Given the description of an element on the screen output the (x, y) to click on. 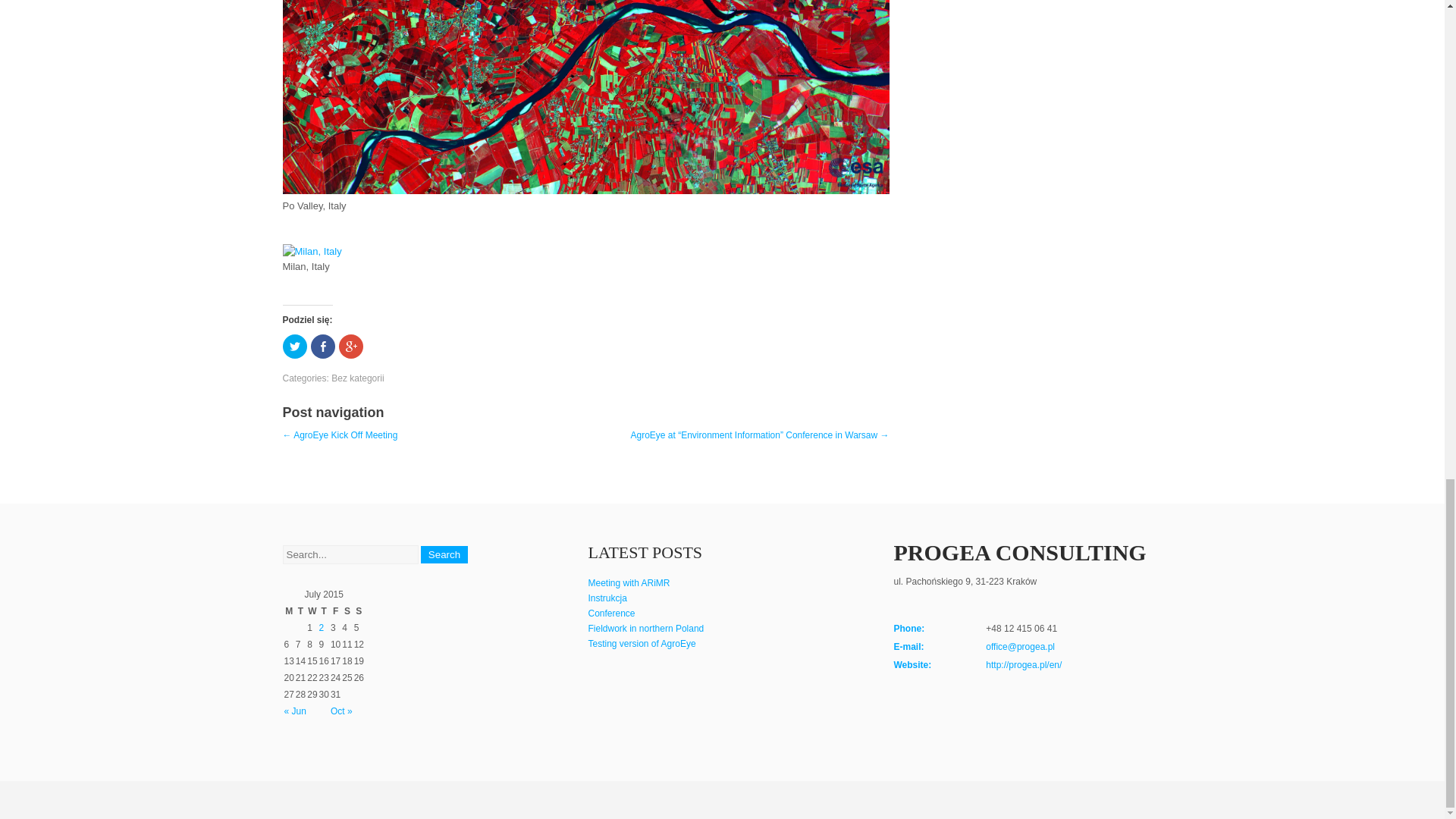
Search (443, 554)
Testing version of AgroEye (641, 643)
View all posts in Bez kategorii (357, 378)
Fieldwork in northern Poland (646, 628)
Search (443, 554)
Search (443, 554)
Bez kategorii (357, 378)
Meeting with ARiMR (628, 583)
Instrukcja (607, 597)
Share on Facebook (322, 346)
Conference (611, 613)
Click to share on Twitter (293, 346)
